Given the description of an element on the screen output the (x, y) to click on. 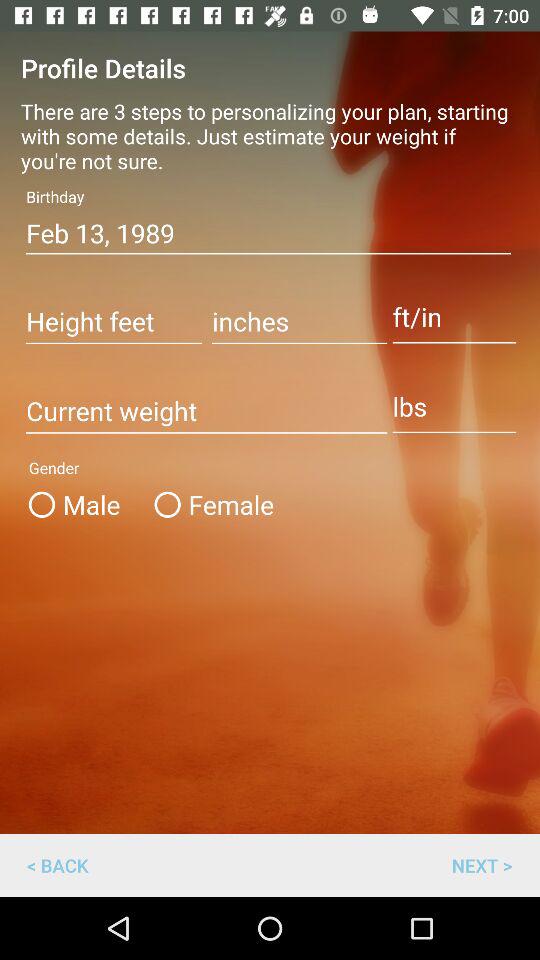
turn off icon above gender (206, 412)
